Given the description of an element on the screen output the (x, y) to click on. 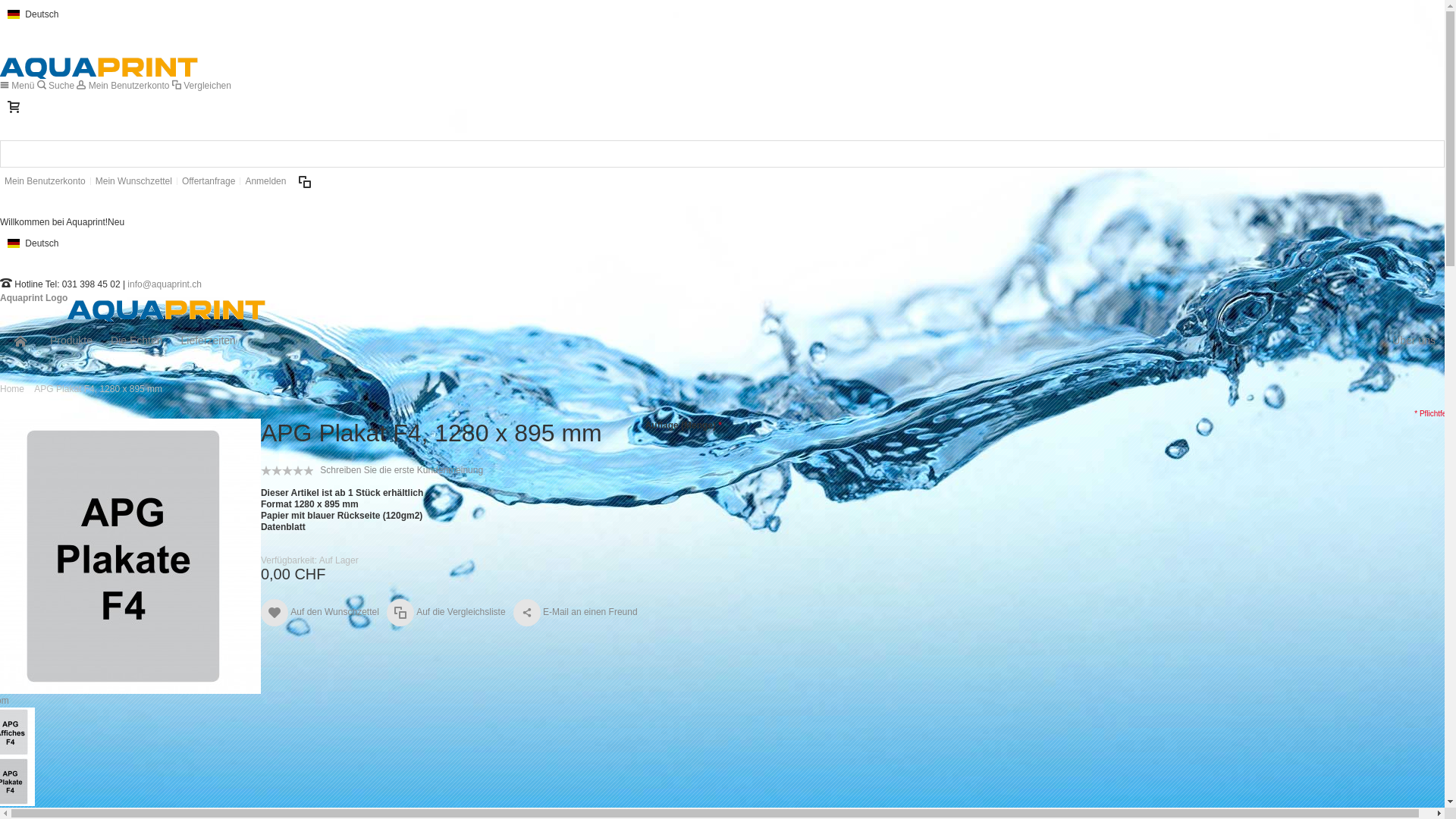
Lieferzeiten Element type: text (208, 340)
  Deutsch Element type: text (33, 13)
Offertanfrage Element type: text (208, 180)
Aquaprint Logo Element type: text (132, 297)
Die Echten Element type: text (136, 340)
Home Element type: text (12, 388)
Auf den Wunschzettel Element type: text (319, 612)
E-Mail an einen Freund Element type: text (575, 612)
Vergleichen Element type: text (201, 85)
Aquaprint Logo Element type: hover (98, 55)
Suche Element type: text (57, 85)
Sie haben keine Artikel auf der Vergleichsliste. Element type: hover (304, 180)
Auf die Vergleichsliste Element type: text (445, 612)
Produkte Element type: text (70, 340)
Mein Benutzerkonto Element type: text (123, 85)
Schreiben Sie die erste Kundenmeinung Element type: text (401, 469)
info@aquaprint.ch Element type: text (164, 284)
Mein Wunschzettel Element type: text (133, 180)
Anmelden Element type: text (265, 180)
Suche Element type: hover (1430, 153)
  Deutsch Element type: text (33, 242)
